Given the description of an element on the screen output the (x, y) to click on. 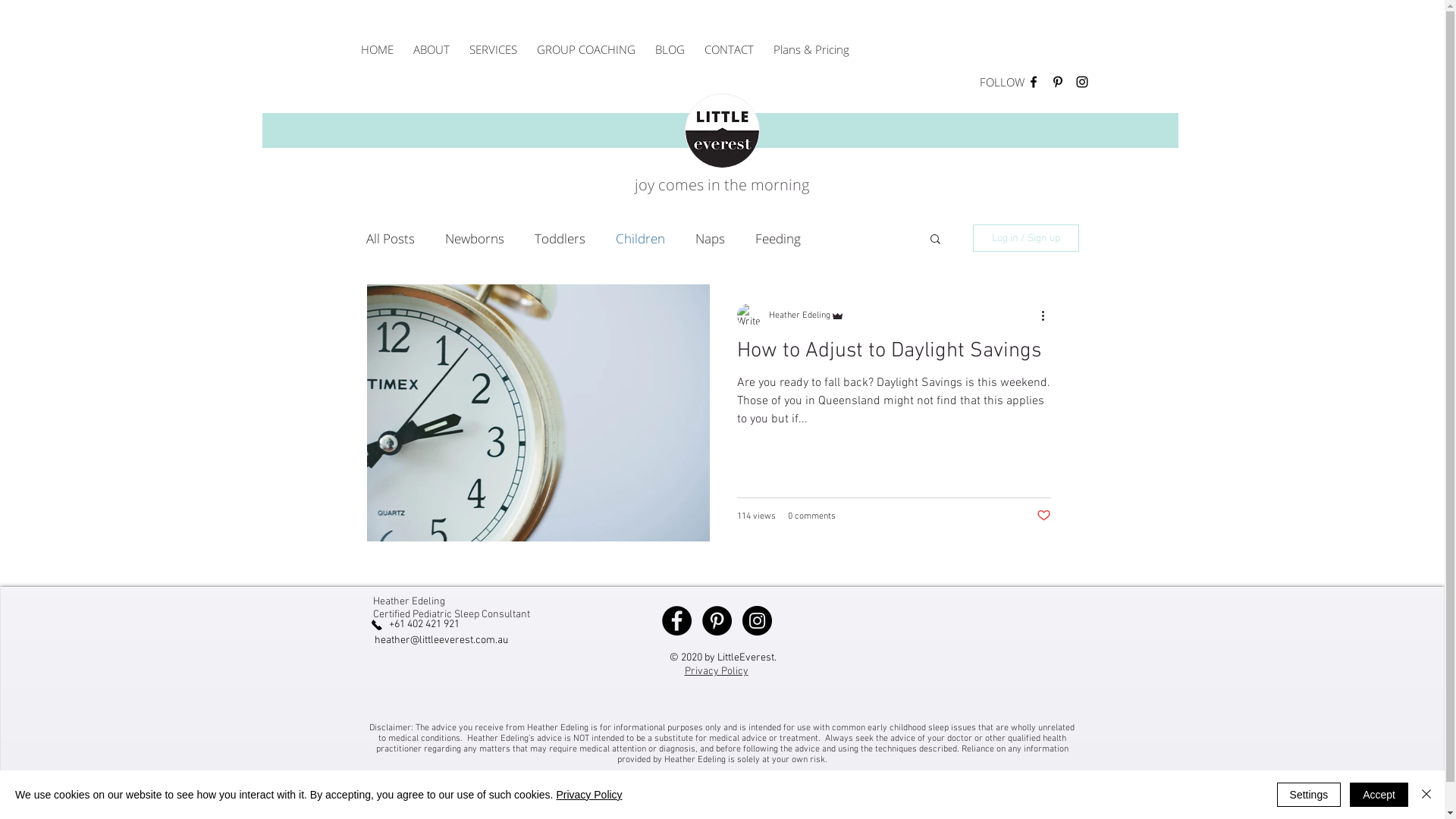
Toddlers Element type: text (558, 237)
Heather Edeling Element type: text (806, 314)
CONTACT Element type: text (728, 49)
Plans & Pricing Element type: text (810, 49)
HOME Element type: text (376, 49)
heather@littleeverest.com.au Element type: text (441, 640)
All Posts Element type: text (389, 237)
BLOG Element type: text (668, 49)
Log in / Sign up Element type: text (1025, 237)
Newborns Element type: text (473, 237)
Privacy Policy Element type: text (588, 794)
0 comments Element type: text (810, 516)
Naps Element type: text (709, 237)
SERVICES Element type: text (493, 49)
Feeding Element type: text (777, 237)
Children Element type: text (640, 237)
Settings Element type: text (1309, 794)
GROUP COACHING Element type: text (585, 49)
Privacy Policy Element type: text (715, 671)
How to Adjust to Daylight Savings Element type: text (894, 355)
Post not marked as liked Element type: text (1042, 516)
+61 402 421 921 Element type: text (423, 624)
Accept Element type: text (1378, 794)
